Given the description of an element on the screen output the (x, y) to click on. 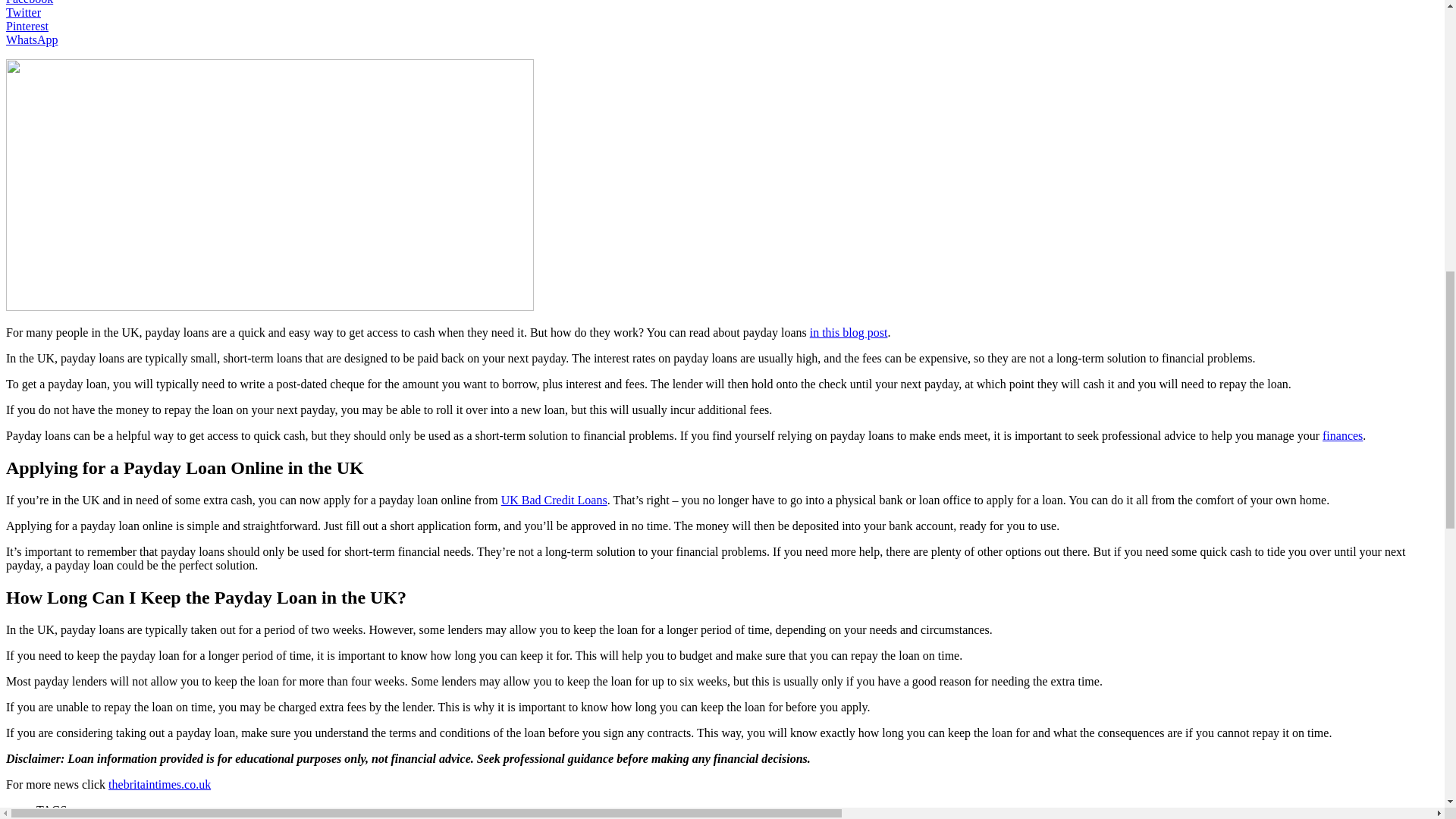
WhatsApp-Image-2022-09-22-at-16.07.22 (269, 184)
